Given the description of an element on the screen output the (x, y) to click on. 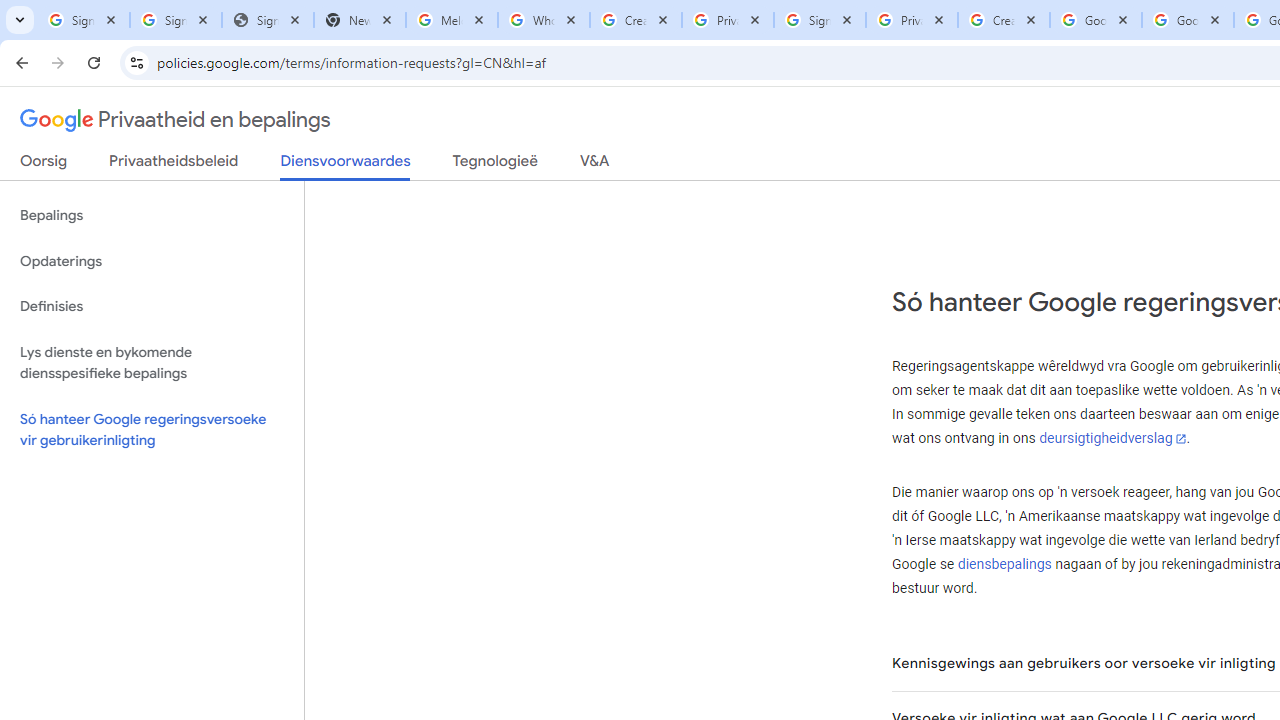
Lys dienste en bykomende diensspesifieke bepalings (152, 362)
Diensvoorwaardes (345, 166)
Create your Google Account (1003, 20)
Create your Google Account (636, 20)
Sign in - Google Accounts (175, 20)
diensbepalings (1004, 564)
Sign in - Google Accounts (820, 20)
Who is my administrator? - Google Account Help (543, 20)
Sign In - USA TODAY (267, 20)
